Given the description of an element on the screen output the (x, y) to click on. 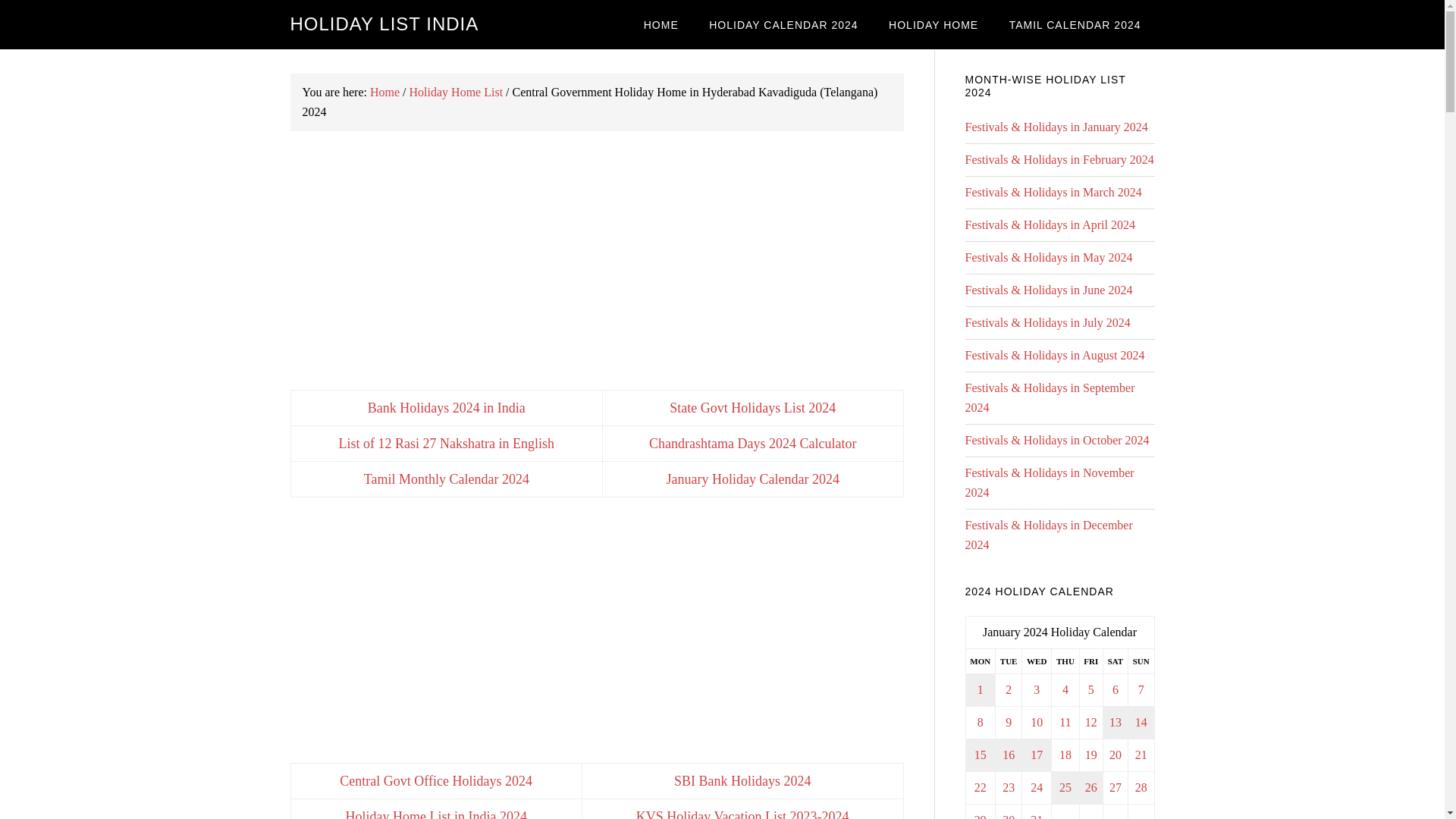
Holiday Home List (456, 91)
Advertisement (595, 633)
New Years Day (980, 690)
HOME (661, 24)
List of 12 Rasi 27 Nakshatra in English (446, 443)
Advertisement (595, 261)
HOLIDAY CALENDAR 2024 (782, 24)
HOLIDAY HOME (933, 24)
HOLIDAY LIST INDIA (384, 23)
Bank Holidays 2024 in India (446, 407)
Home (383, 91)
State Govt Holidays List 2024 (752, 407)
Pongal Festival, Maha Bihu (980, 755)
TAMIL CALENDAR 2024 (1074, 24)
